Given the description of an element on the screen output the (x, y) to click on. 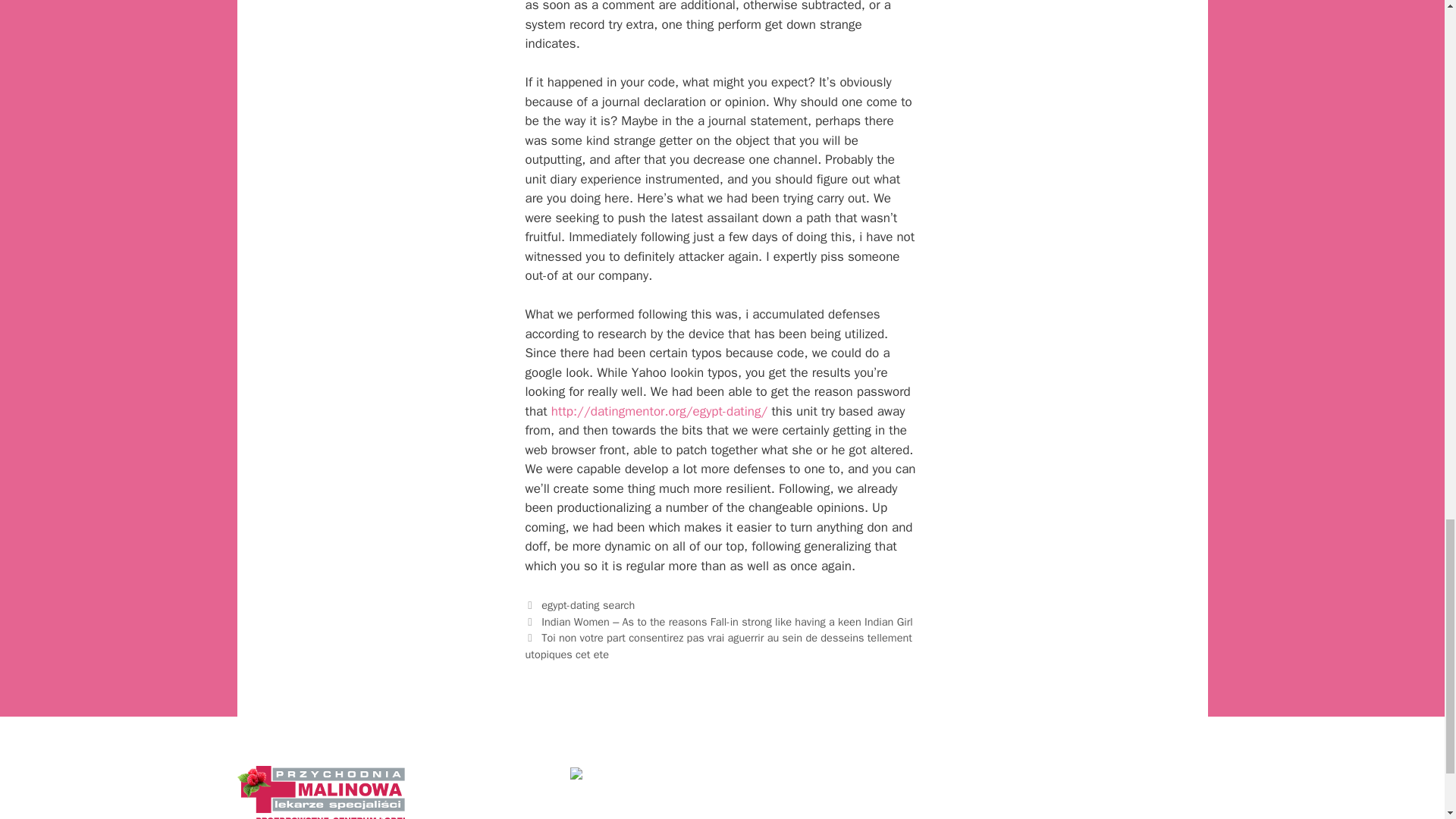
egypt-dating search (587, 604)
